Given the description of an element on the screen output the (x, y) to click on. 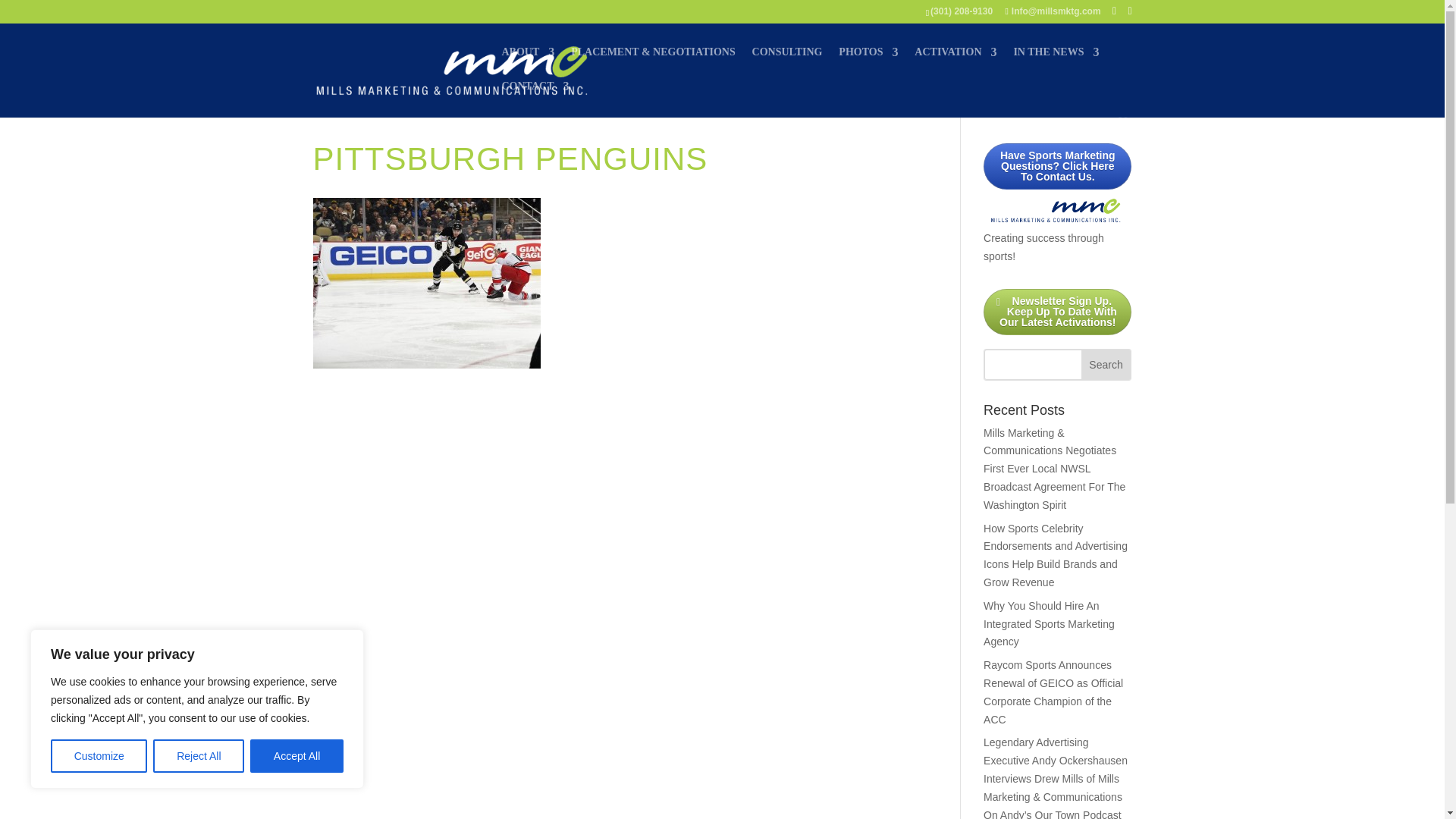
Accept All (296, 756)
ABOUT (528, 63)
PHOTOS (868, 63)
Reject All (198, 756)
CONSULTING (787, 63)
Customize (98, 756)
Search (1106, 364)
